Given the description of an element on the screen output the (x, y) to click on. 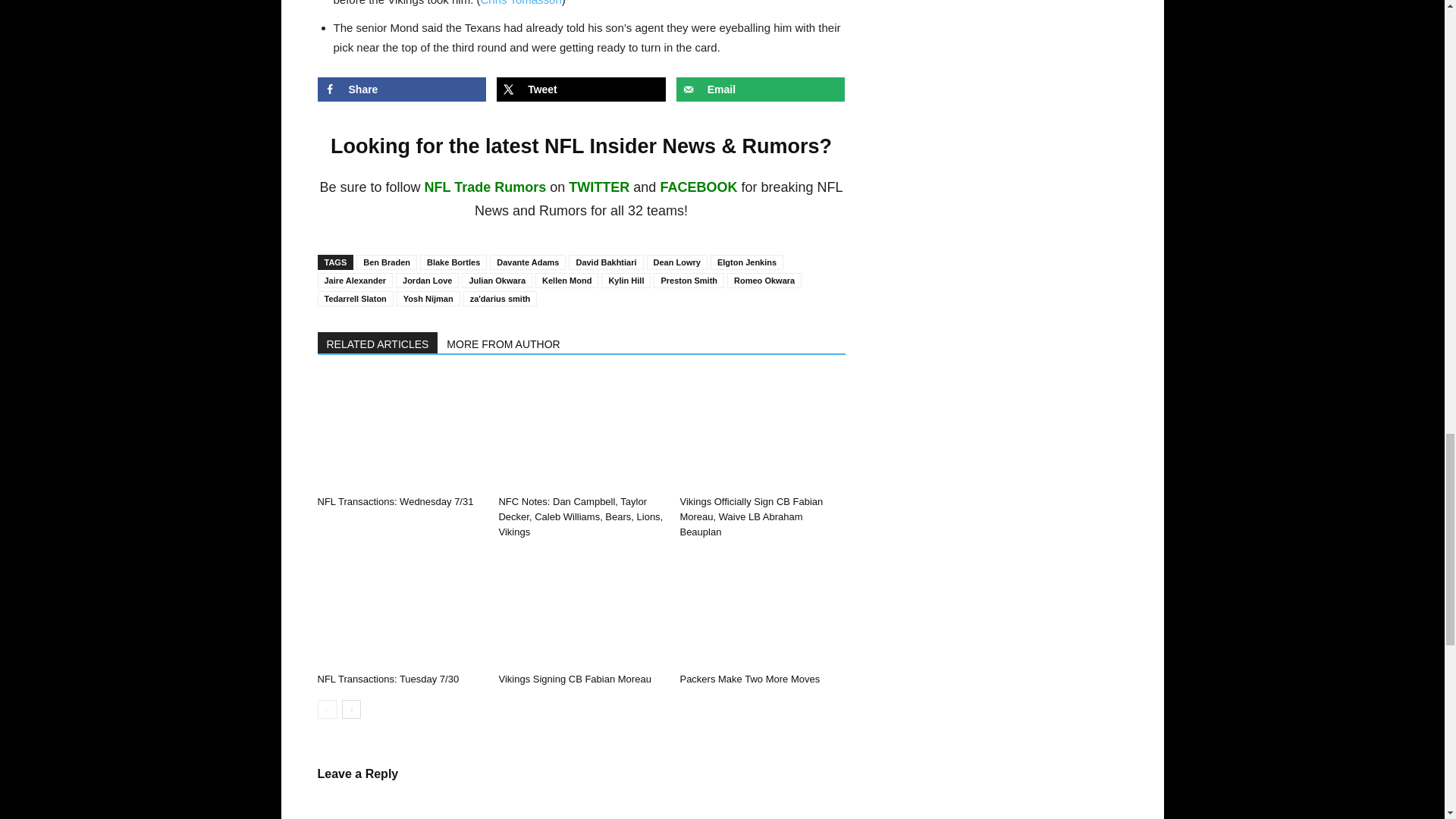
NFC Notes: D.J. Moore, Alim McNeill, Bears, Lions, Packers (580, 431)
Send over email (761, 88)
Share on Facebook (401, 88)
Share on X (580, 88)
